Given the description of an element on the screen output the (x, y) to click on. 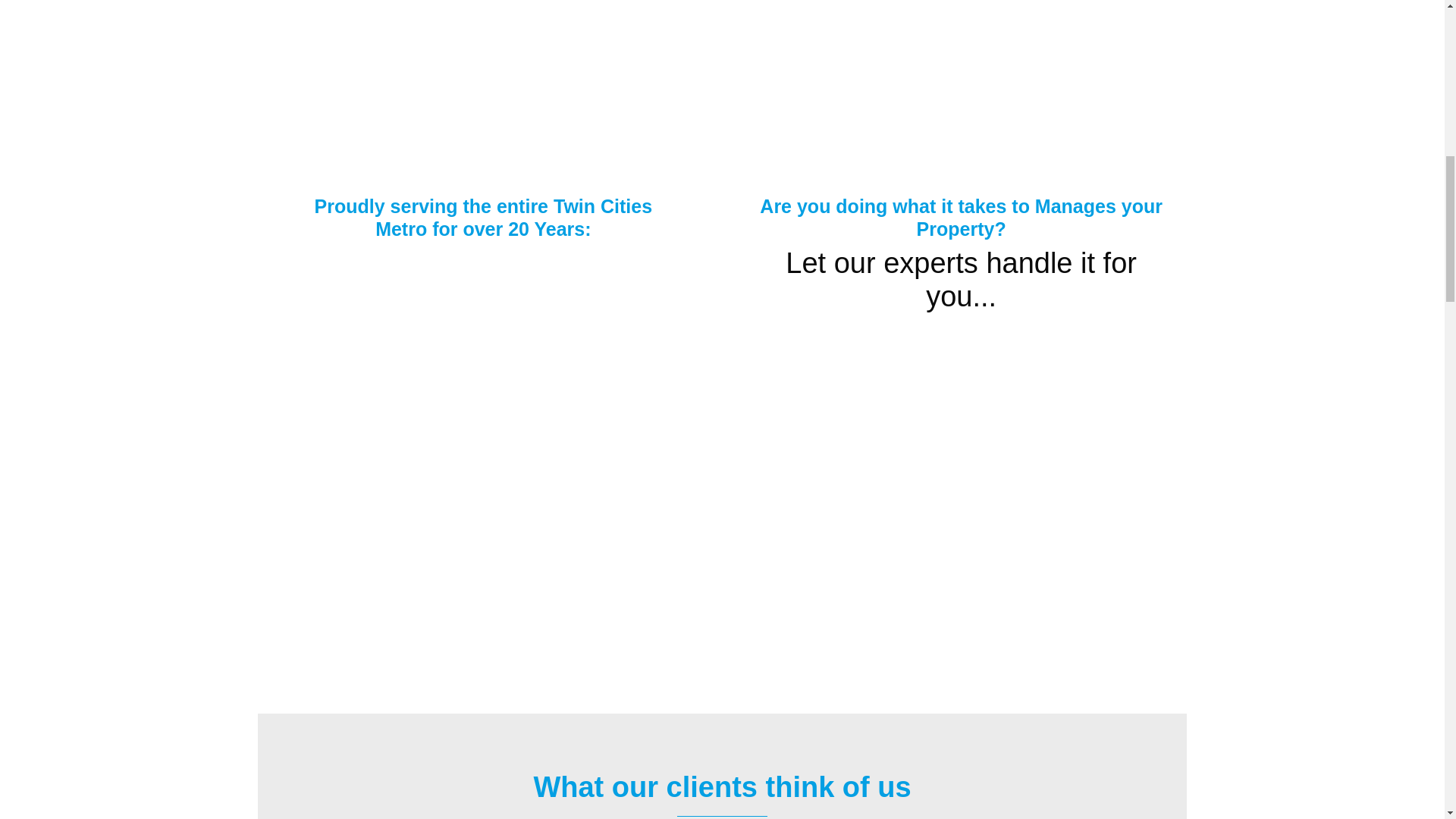
Robbinsdale-1 (478, 79)
apartment-management-services (960, 474)
Robbinsdale-2 (943, 79)
